Given the description of an element on the screen output the (x, y) to click on. 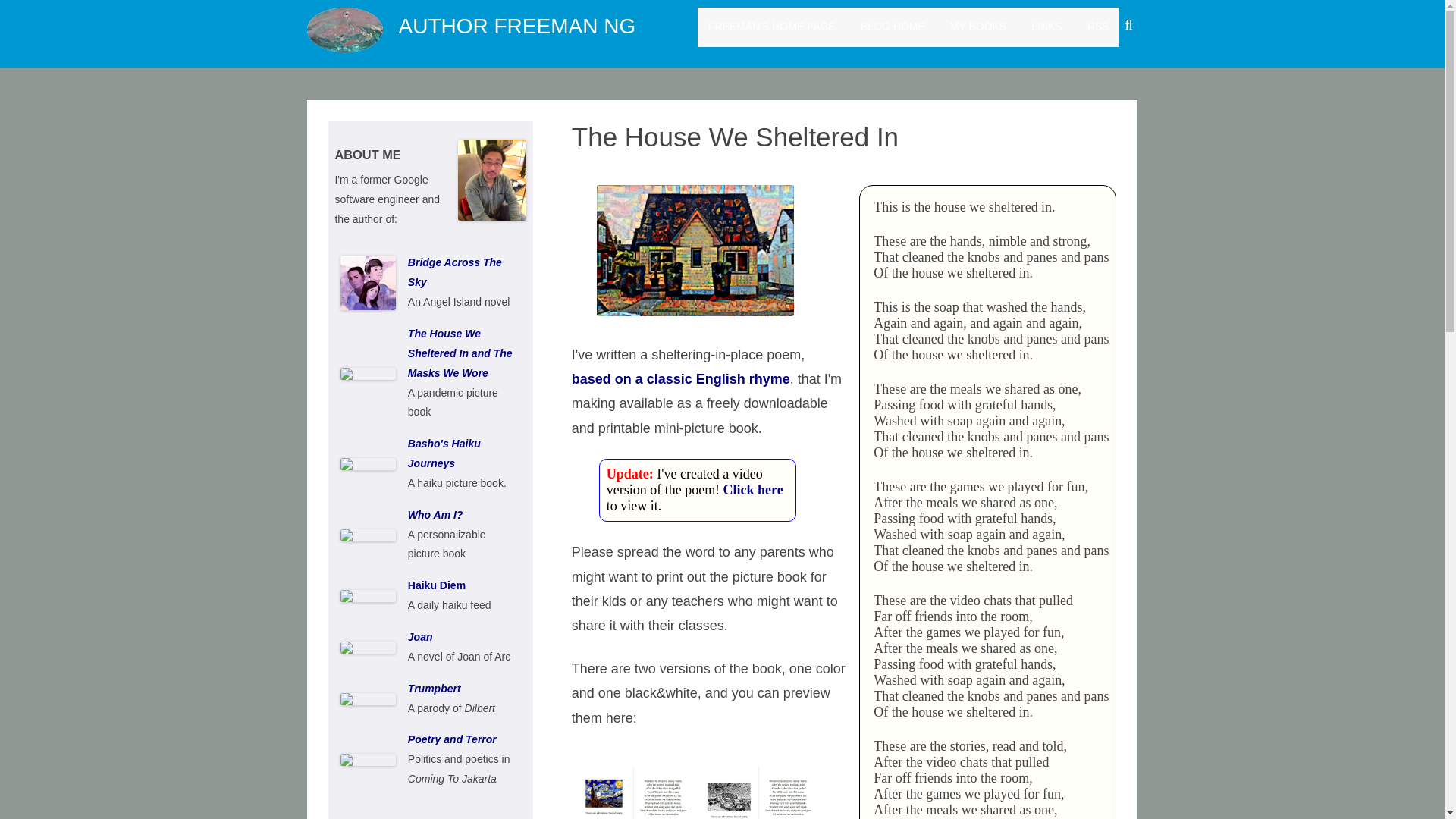
AUTHOR FREEMAN NG (517, 26)
MY BOOKS (978, 26)
color8 (634, 790)
FREEMAN'S HOME PAGE (771, 26)
bw8 (758, 790)
Author Freeman Ng (517, 26)
BLOG HOME (892, 26)
based on a classic English rhyme (681, 378)
